Given the description of an element on the screen output the (x, y) to click on. 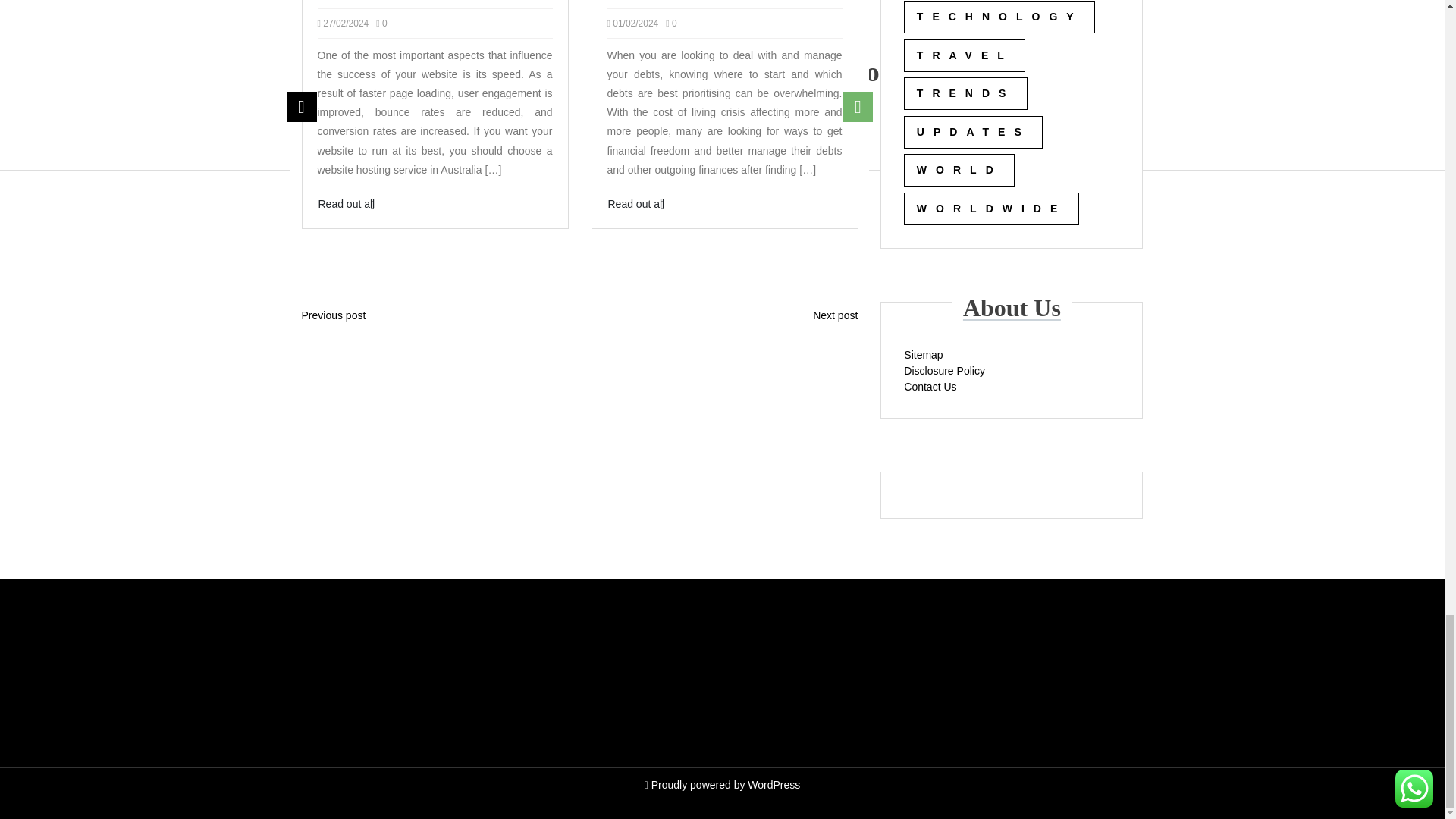
Previous (301, 106)
